Given the description of an element on the screen output the (x, y) to click on. 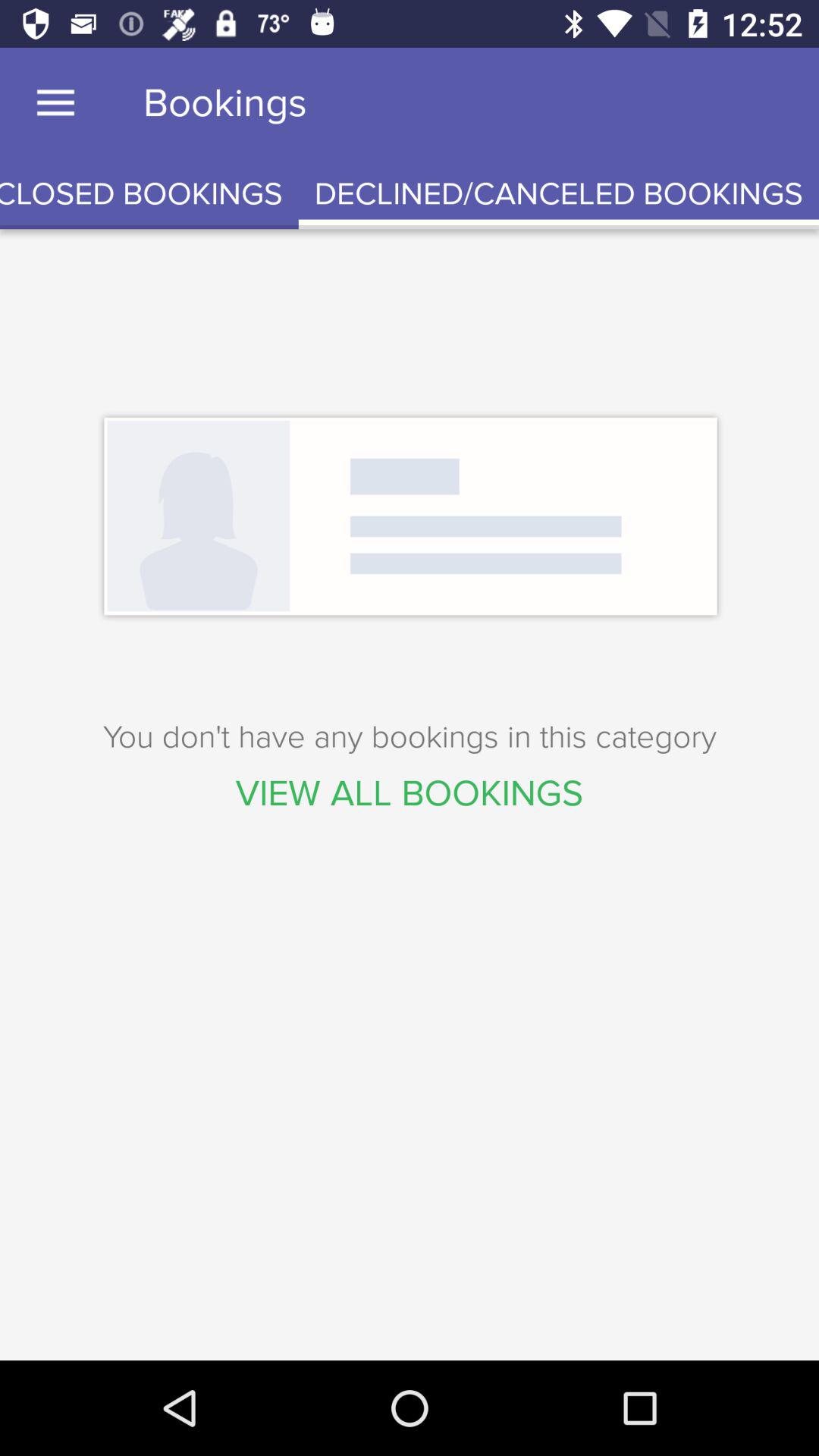
swipe to expired/closed bookings icon (149, 194)
